Given the description of an element on the screen output the (x, y) to click on. 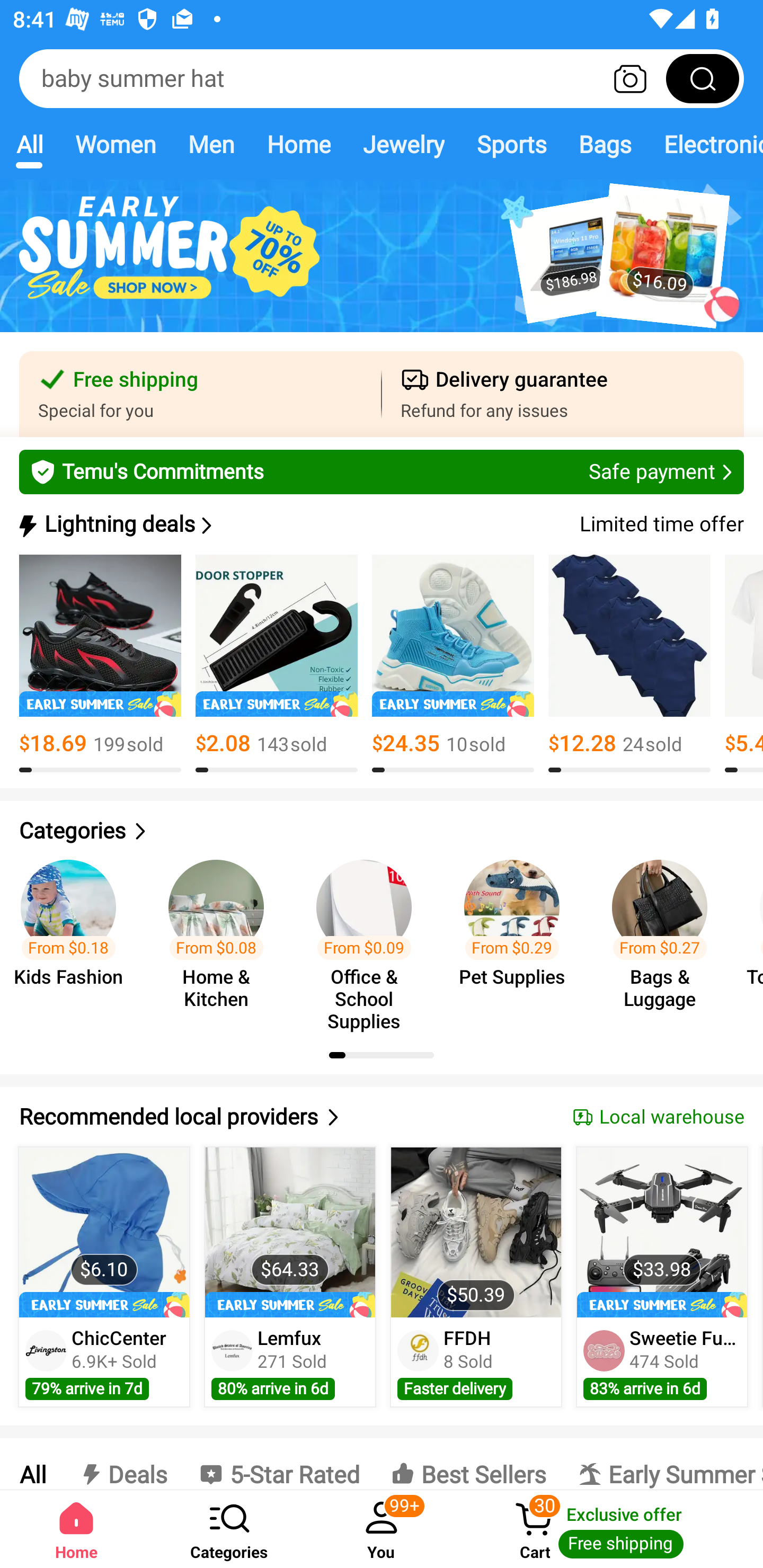
baby summer hat (381, 78)
All (29, 144)
Women (115, 144)
Men (211, 144)
Home (298, 144)
Jewelry (403, 144)
Sports (511, 144)
Bags (605, 144)
Electronics (705, 144)
$186.98 $16.09 (381, 265)
Free shipping Special for you (200, 394)
Delivery guarantee Refund for any issues (562, 394)
Temu's Commitments (381, 471)
Lightning deals Lightning deals Limited time offer (379, 524)
$18.69 199￼sold 8.0 (100, 664)
$2.08 143￼sold 8.0 (276, 664)
$24.35 10￼sold 8.0 (453, 664)
$12.28 24￼sold 8.0 (629, 664)
Categories (381, 830)
From $0.18 Kids Fashion (74, 936)
From $0.08 Home & Kitchen (222, 936)
From $0.09 Office & School Supplies (369, 936)
From $0.29 Pet Supplies (517, 936)
From $0.27 Bags & Luggage (665, 936)
$6.10 ChicCenter 6.9K+ Sold 79% arrive in 7d (103, 1276)
$64.33 Lemfux 271 Sold 80% arrive in 6d (289, 1276)
$50.39 FFDH 8 Sold Faster delivery (475, 1276)
$6.10 (104, 1232)
$64.33 (290, 1232)
$50.39 (475, 1232)
$33.98 (661, 1232)
All (32, 1463)
Deals Deals Deals (122, 1463)
5-Star Rated 5-Star Rated 5-Star Rated (279, 1463)
Best Sellers Best Sellers Best Sellers (468, 1463)
Home (76, 1528)
Categories (228, 1528)
You ‎99+‎ You (381, 1528)
Cart 30 Cart Exclusive offer (610, 1528)
